Given the description of an element on the screen output the (x, y) to click on. 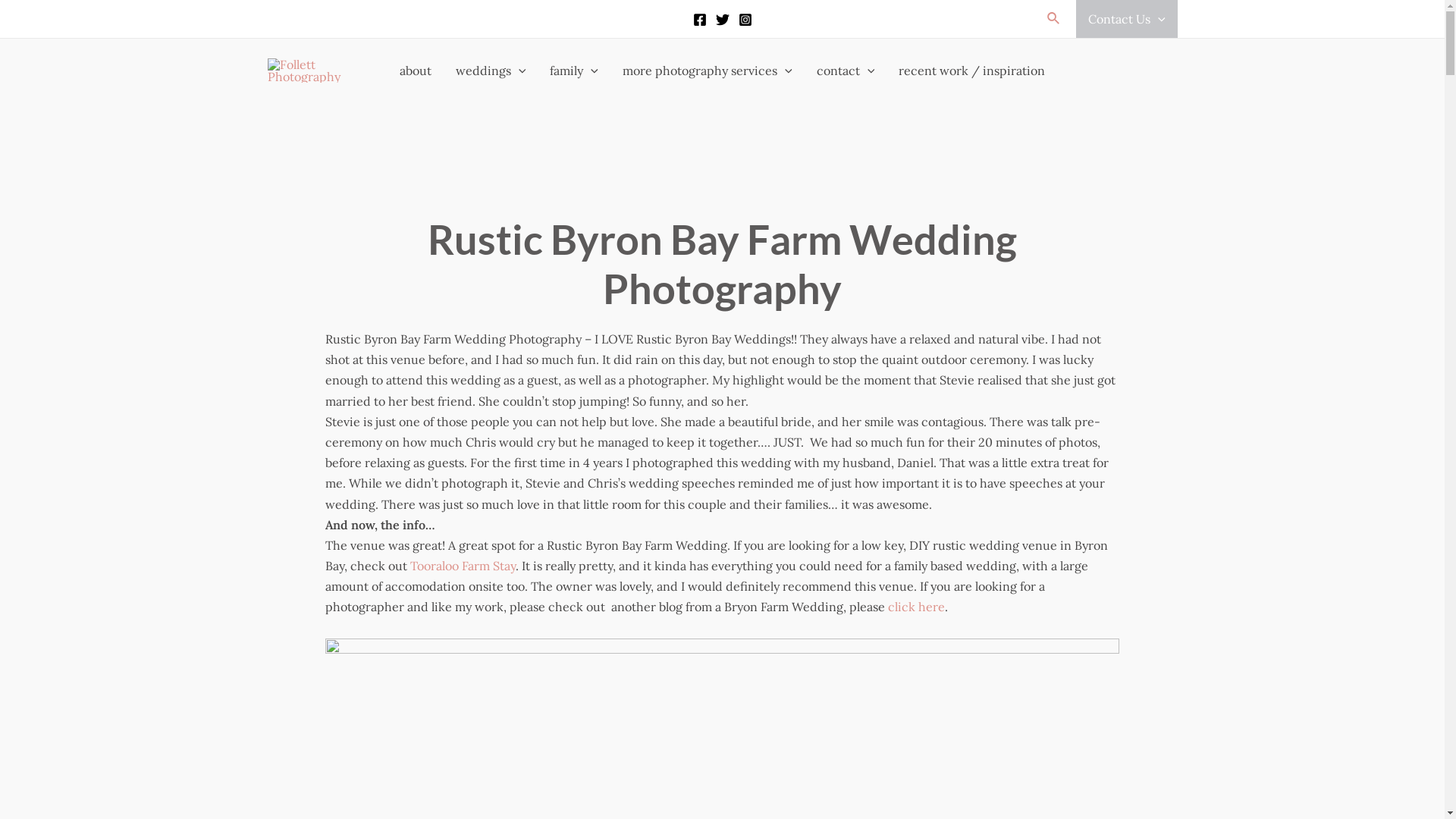
Contact Us Element type: text (1126, 18)
Tooraloo Farm Stay Element type: text (462, 565)
recent work / inspiration Element type: text (971, 70)
click here Element type: text (916, 606)
family Element type: text (573, 70)
more photography services Element type: text (707, 70)
weddings Element type: text (490, 70)
contact Element type: text (845, 70)
about Element type: text (415, 70)
Search Element type: text (1053, 18)
